Given the description of an element on the screen output the (x, y) to click on. 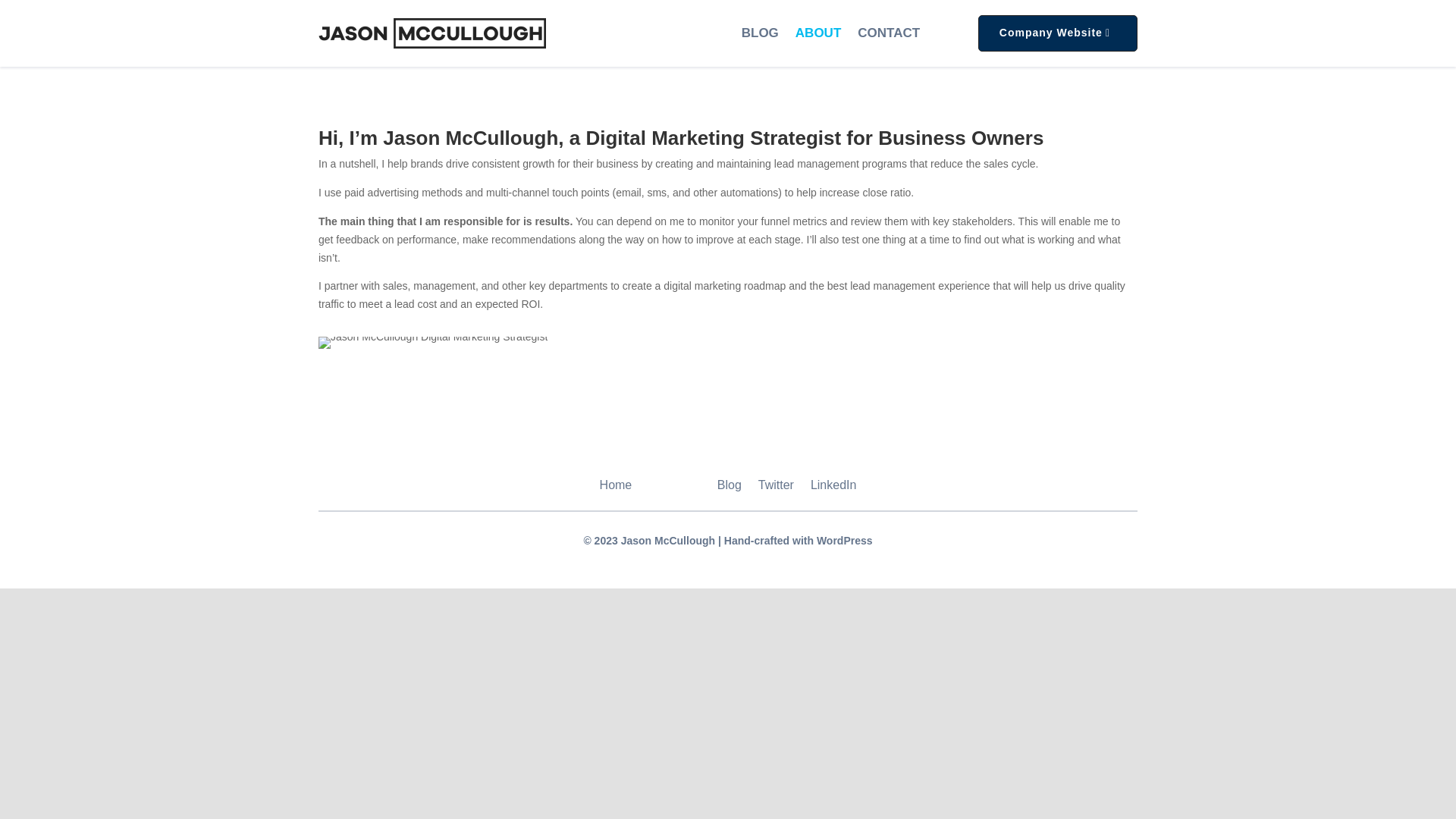
Home (615, 488)
Jason-McCullough-Atlanta-GA (432, 342)
CONTACT (888, 33)
About Me (673, 488)
Company Website (1057, 33)
BLOG (759, 33)
ABOUT (817, 33)
Blog (729, 488)
LinkedIn (833, 488)
Twitter (775, 488)
